Given the description of an element on the screen output the (x, y) to click on. 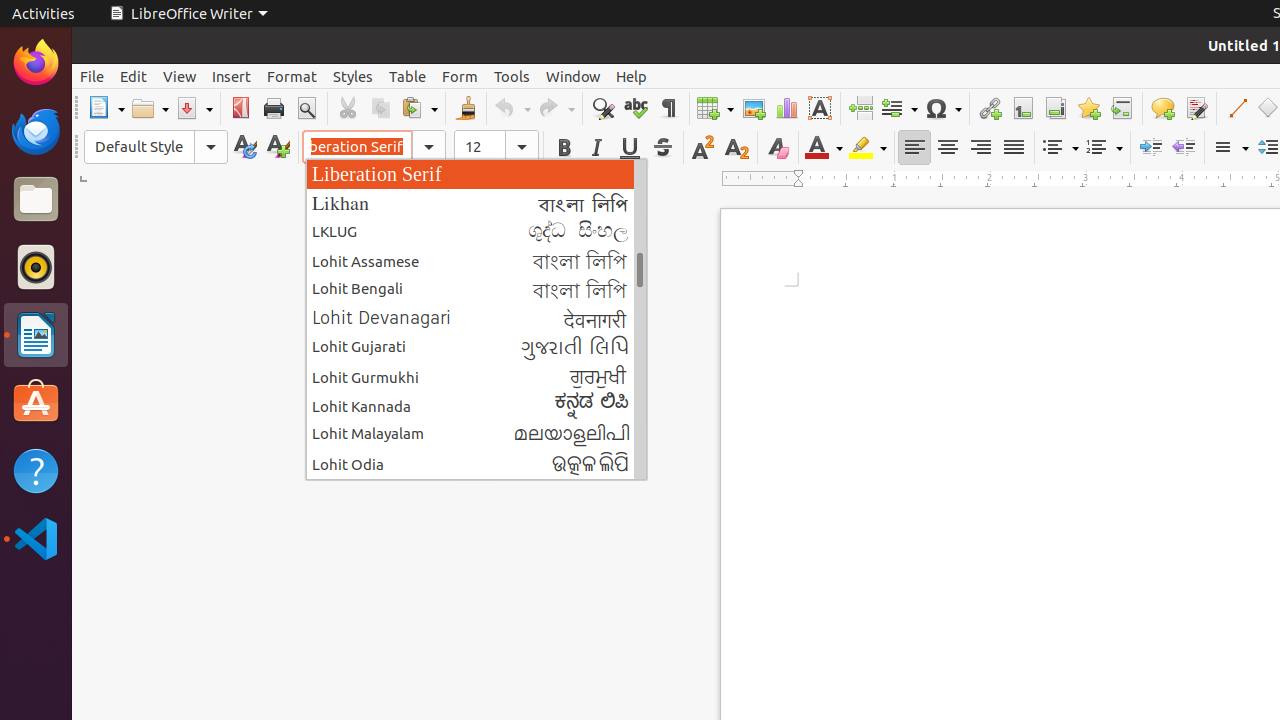
PDF Element type: push-button (240, 108)
Clone Element type: push-button (465, 108)
Visual Studio Code Element type: push-button (36, 538)
Files Element type: push-button (36, 199)
Insert Element type: menu (231, 76)
